Given the description of an element on the screen output the (x, y) to click on. 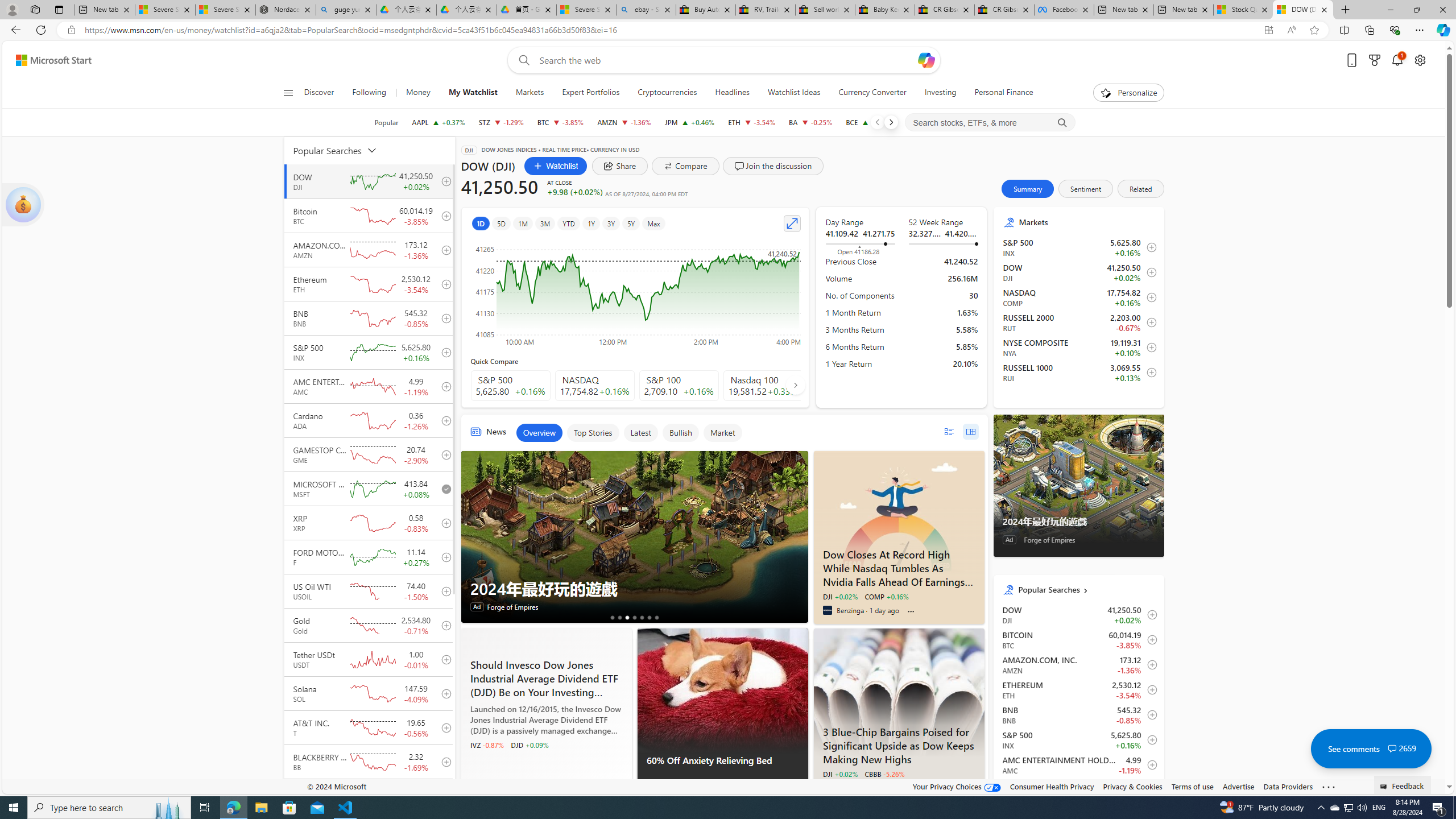
Currency Converter (872, 92)
My Watchlist (472, 92)
Advertise (1238, 786)
AutomationID: finance_carousel_navi_right (794, 384)
Investing.com (826, 786)
AdChoices (798, 789)
